Given the description of an element on the screen output the (x, y) to click on. 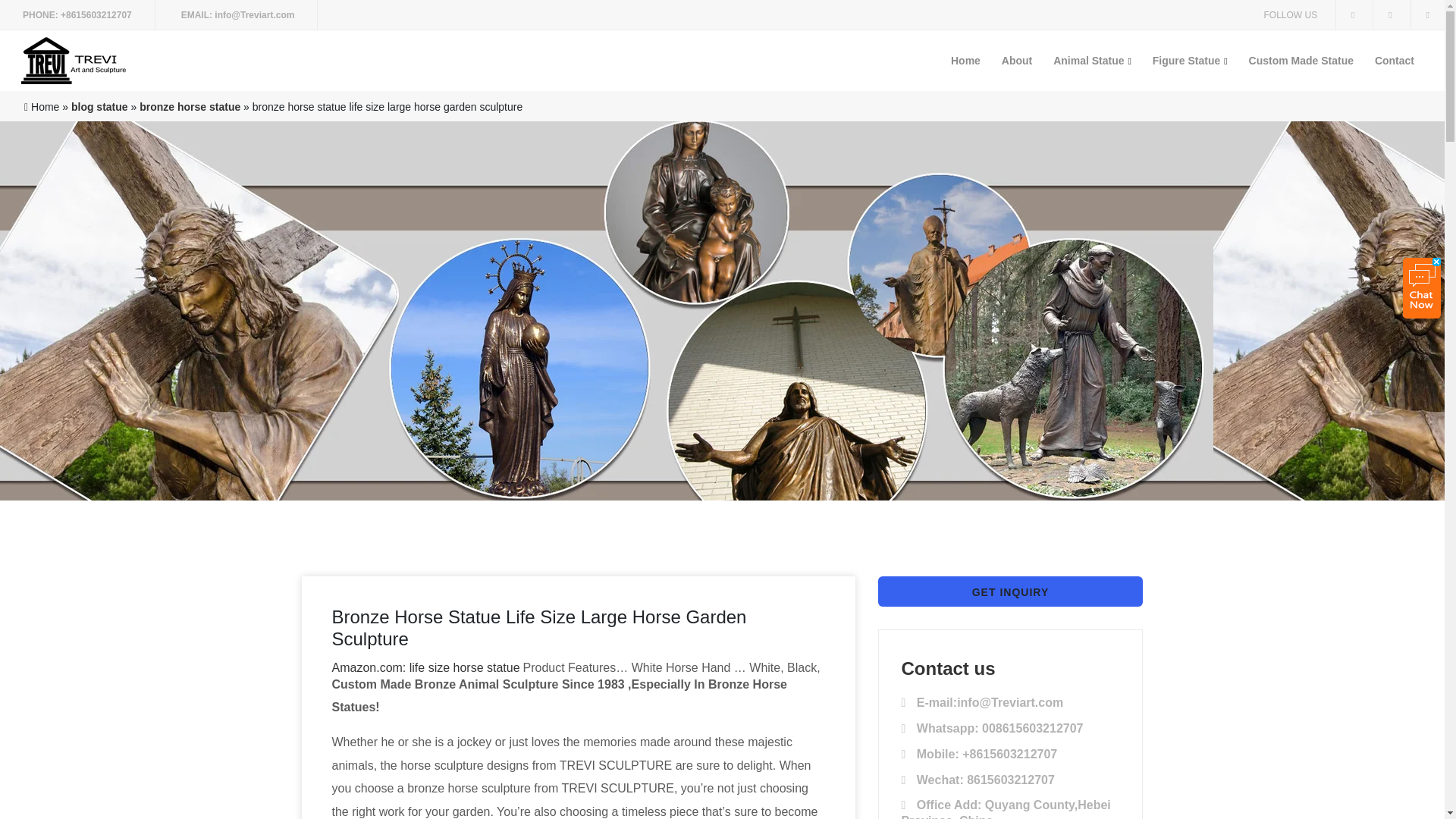
Figure Statue (1189, 59)
GET INQUIRY (1009, 591)
About (1016, 59)
Home (966, 59)
blog statue (99, 106)
Contact (1394, 59)
About (1016, 59)
Contact (1394, 59)
Figure Statue (1189, 59)
Custom Made Statue (1301, 59)
Animal Statue (1091, 59)
bronze horse statue (189, 106)
Animal Statue (1091, 59)
Custom Made Statue (1301, 59)
